Given the description of an element on the screen output the (x, y) to click on. 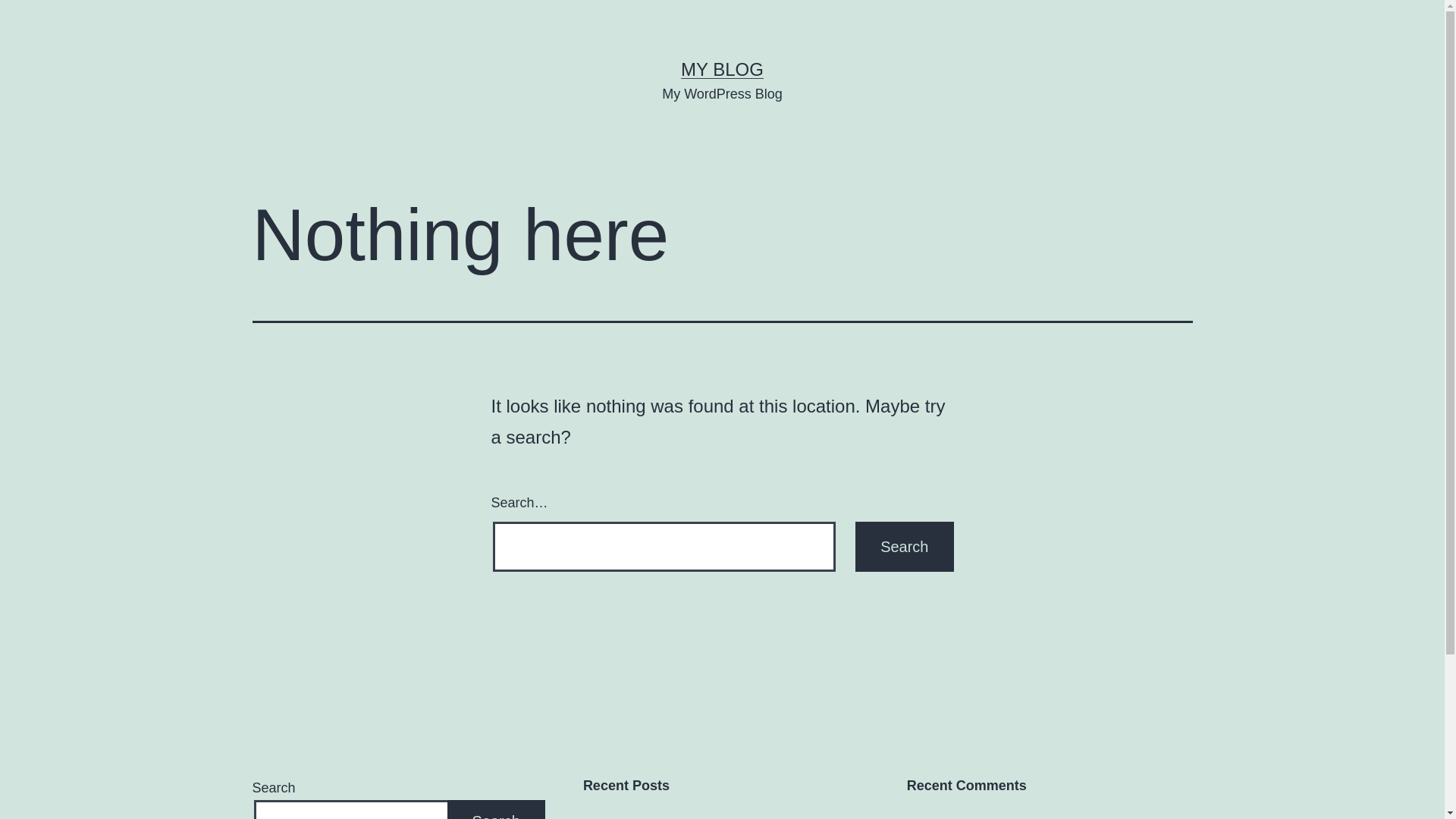
Search Element type: text (904, 546)
MY BLOG Element type: text (721, 69)
